Given the description of an element on the screen output the (x, y) to click on. 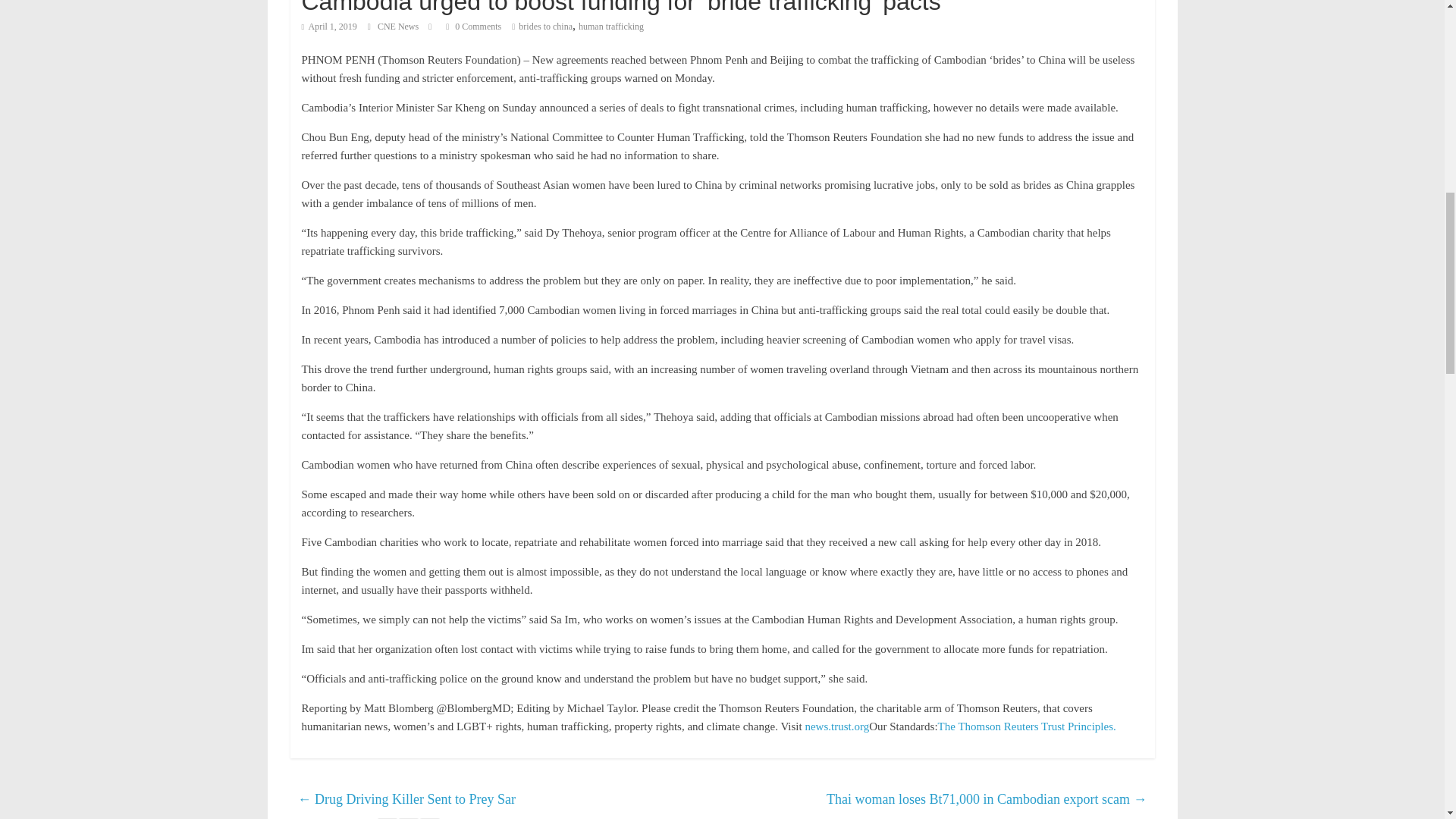
The Thomson Reuters Trust Principles. (1026, 726)
CNE News (398, 26)
CNE News (398, 26)
brides to china (545, 26)
human trafficking (610, 26)
6:55 pm (328, 26)
0 Comments (472, 26)
news.trust.org (837, 726)
April 1, 2019 (328, 26)
